Given the description of an element on the screen output the (x, y) to click on. 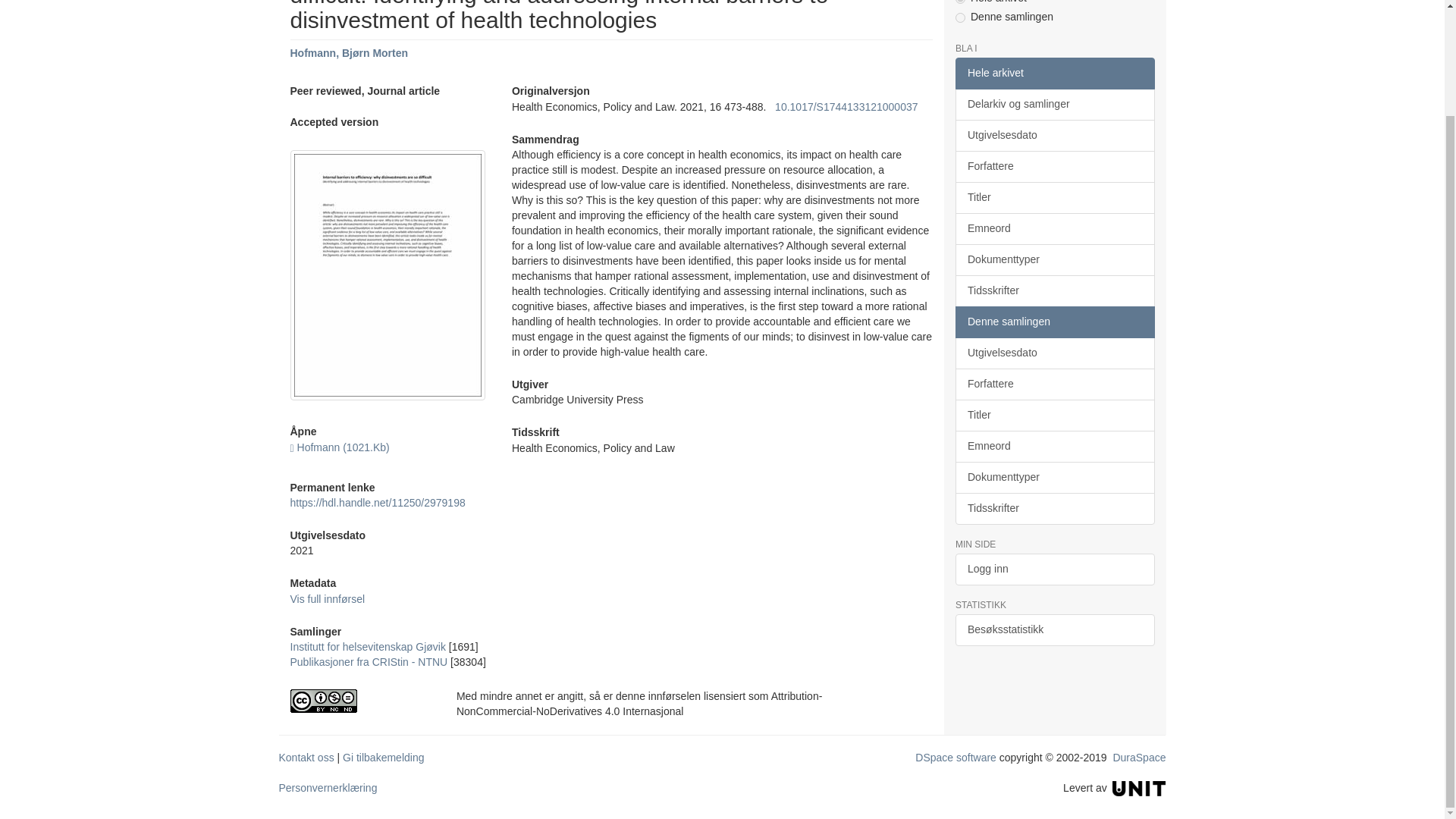
Hele arkivet (1054, 73)
Attribution-NonCommercial-NoDerivatives 4.0 Internasjonal (360, 700)
Unit (1139, 787)
Publikasjoner fra CRIStin - NTNU (367, 662)
Utgivelsesdato (1054, 135)
Delarkiv og samlinger (1054, 104)
Titler (1054, 197)
Forfattere (1054, 166)
